Given the description of an element on the screen output the (x, y) to click on. 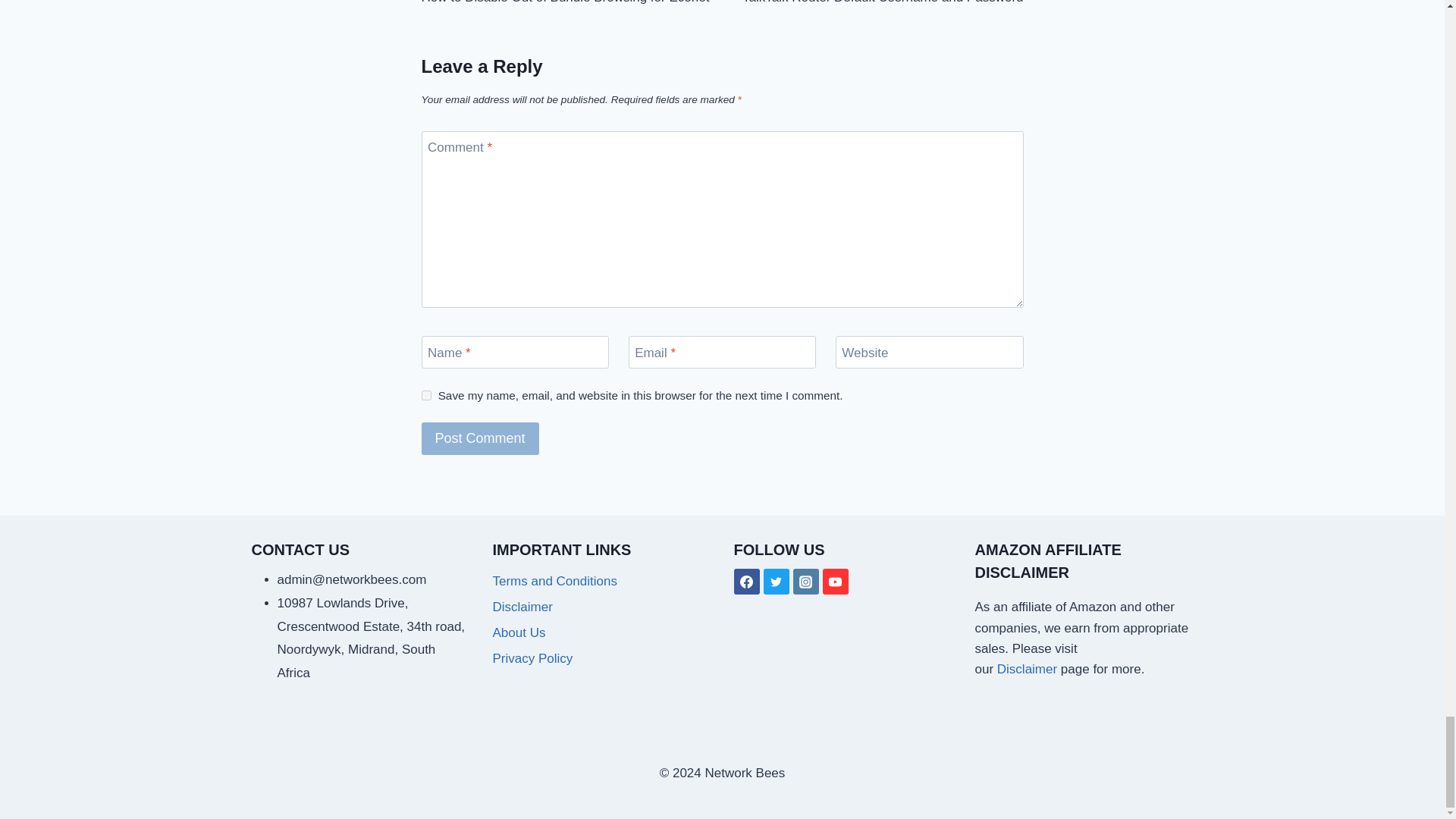
yes (426, 395)
Terms and Conditions (602, 581)
Post Comment (480, 438)
About Us (602, 632)
Disclaimer (572, 3)
Disclaimer  (602, 606)
Post Comment (872, 3)
Privacy Policy (1029, 668)
